Given the description of an element on the screen output the (x, y) to click on. 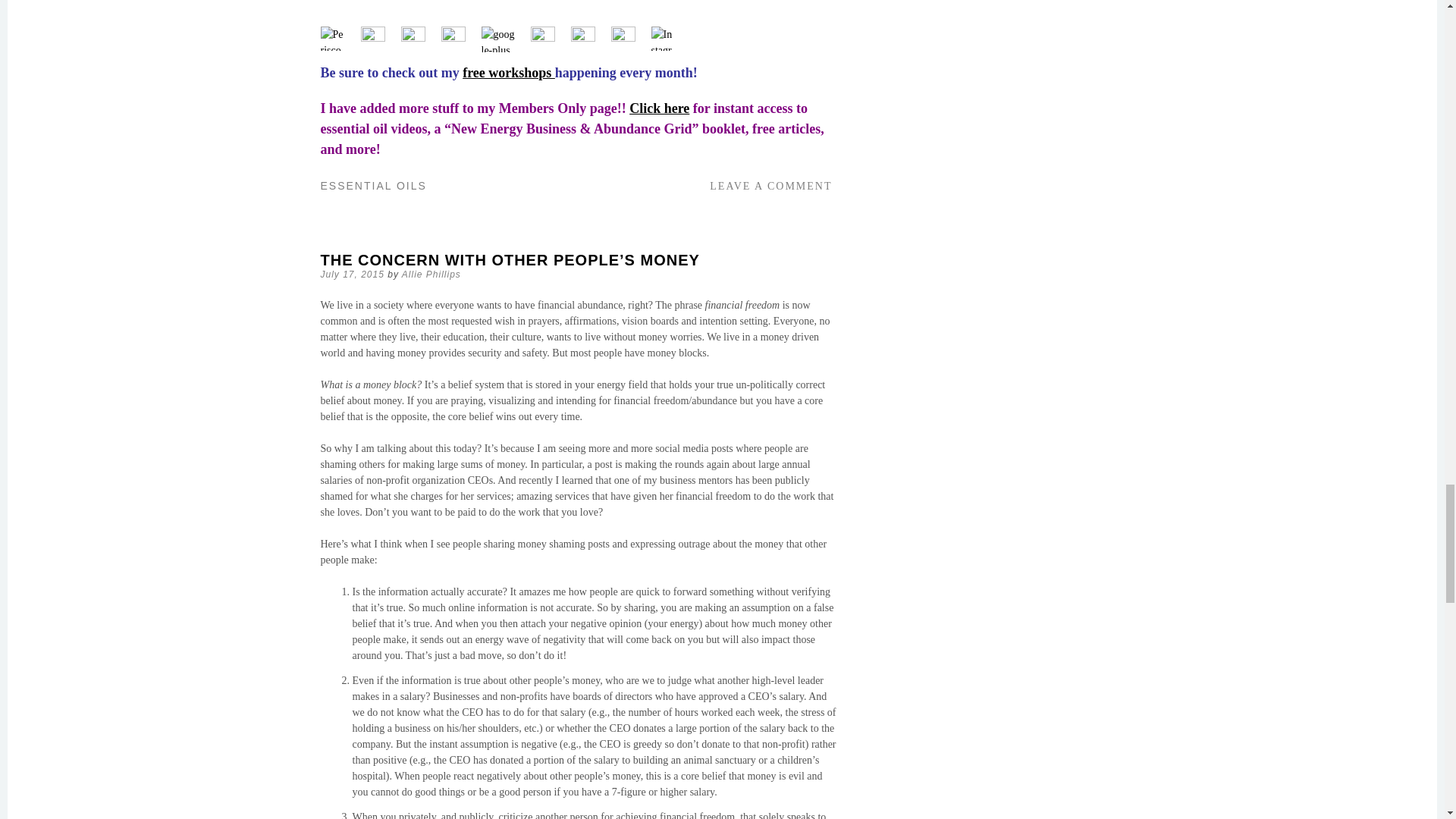
twitter (412, 38)
youtube (453, 38)
Etsy logo (622, 38)
RSS (582, 38)
pinterest-icon (542, 38)
fbicon (373, 38)
